Given the description of an element on the screen output the (x, y) to click on. 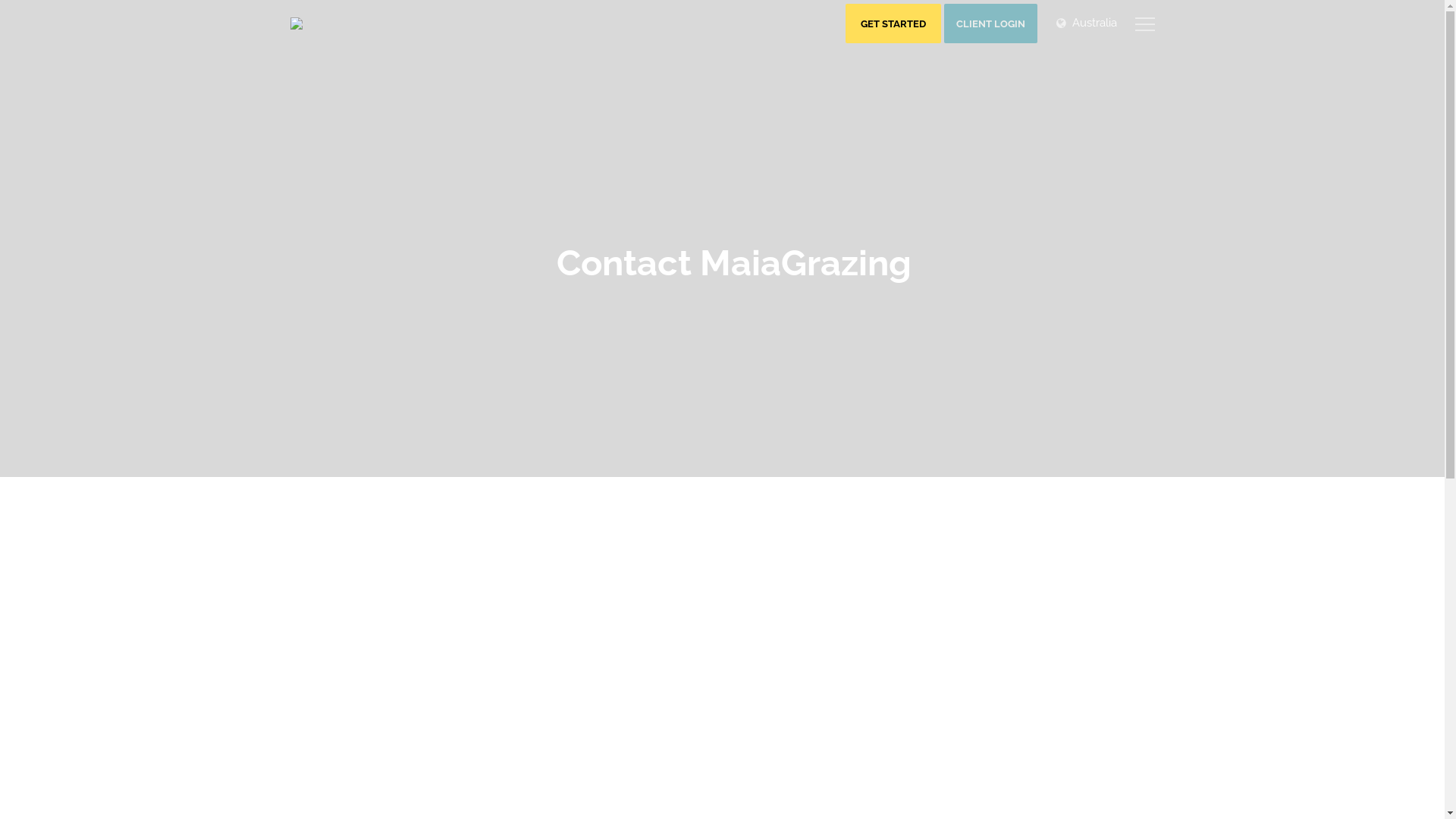
GET STARTED Element type: text (892, 23)
CLIENT LOGIN Element type: text (989, 23)
